Given the description of an element on the screen output the (x, y) to click on. 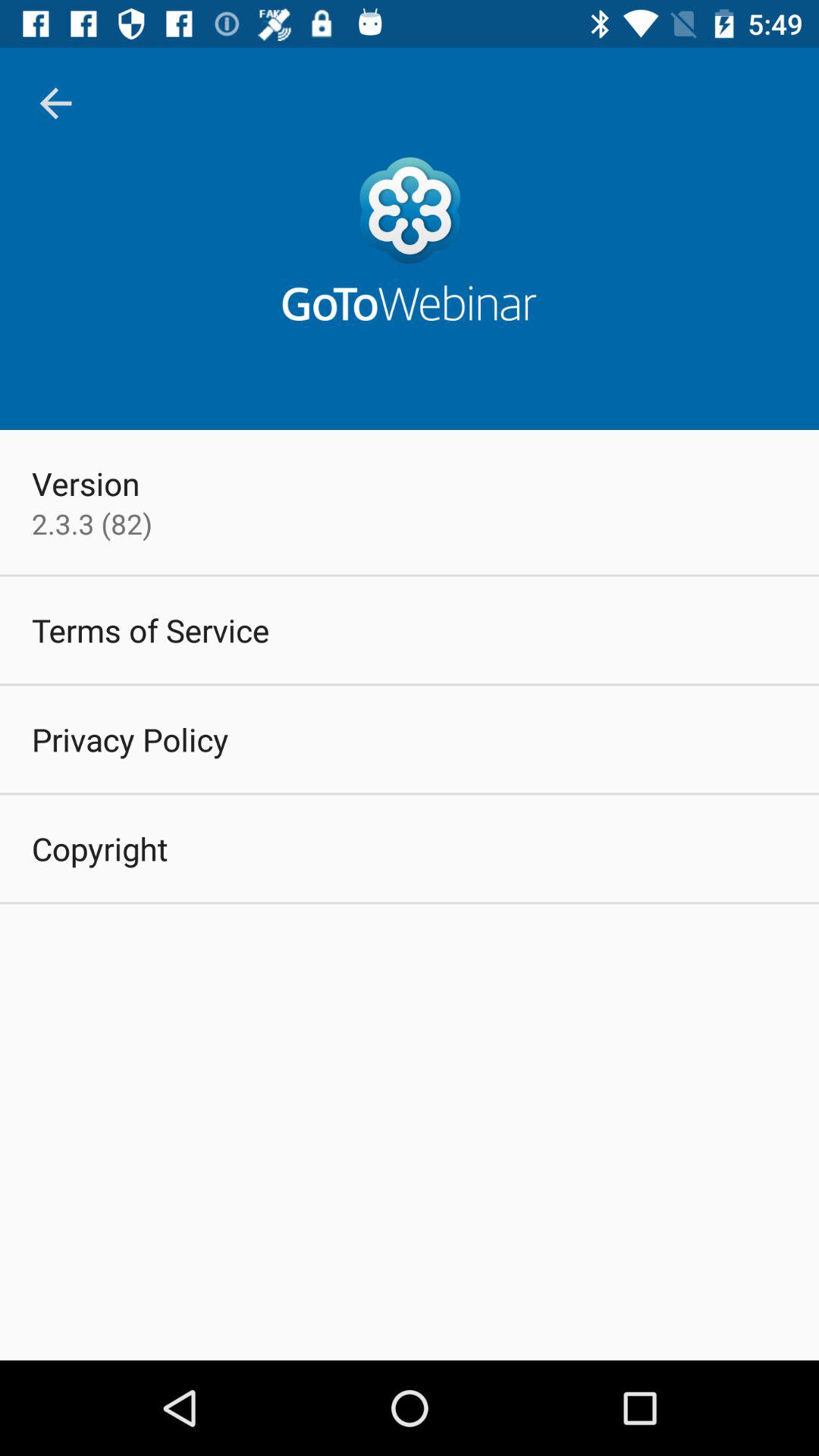
jump until the terms of service (150, 629)
